Given the description of an element on the screen output the (x, y) to click on. 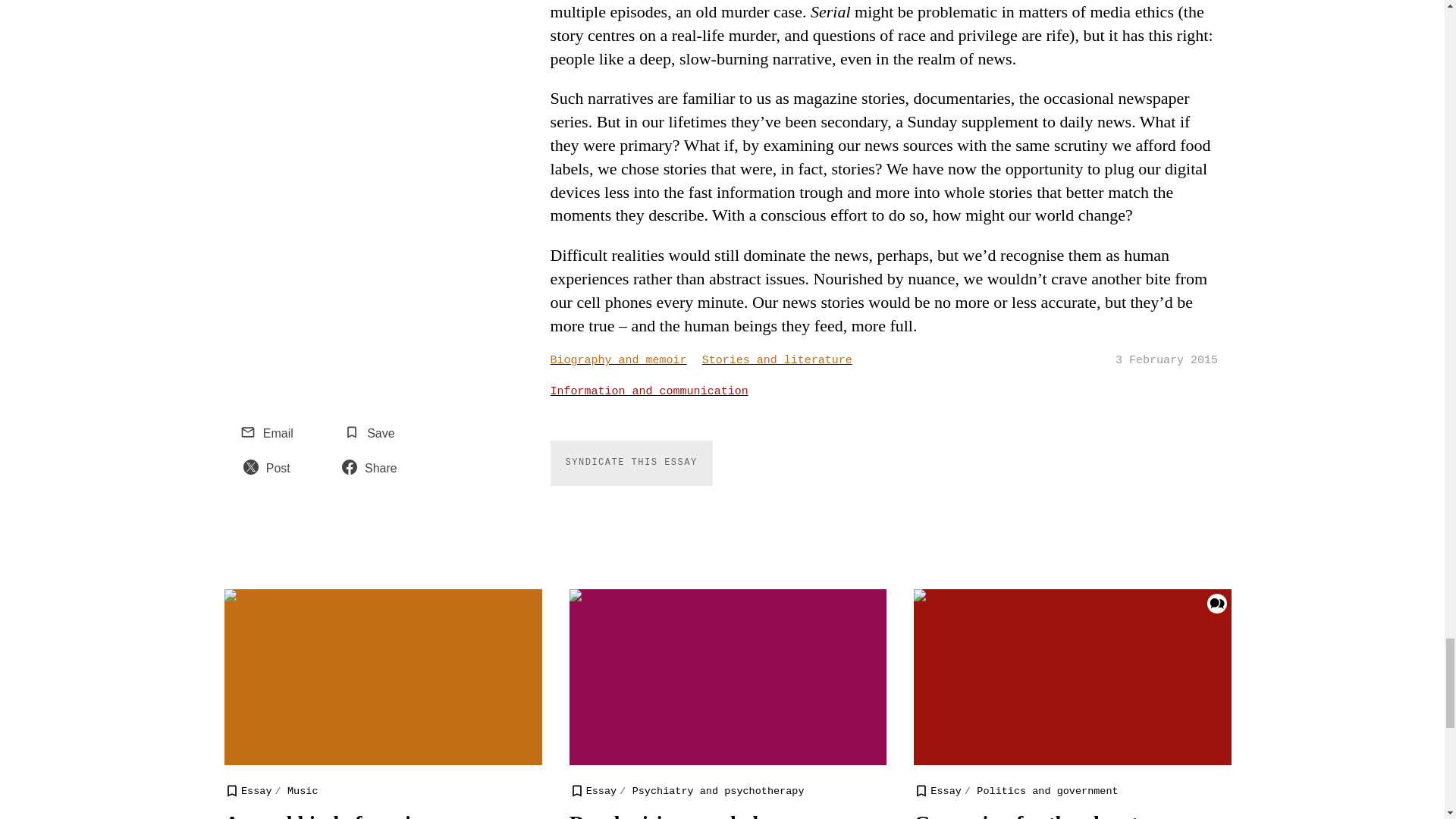
Information and communication (656, 391)
Biography and memoir (625, 360)
SYNDICATE THIS ESSAY (631, 462)
Stories and literature (784, 360)
